Given the description of an element on the screen output the (x, y) to click on. 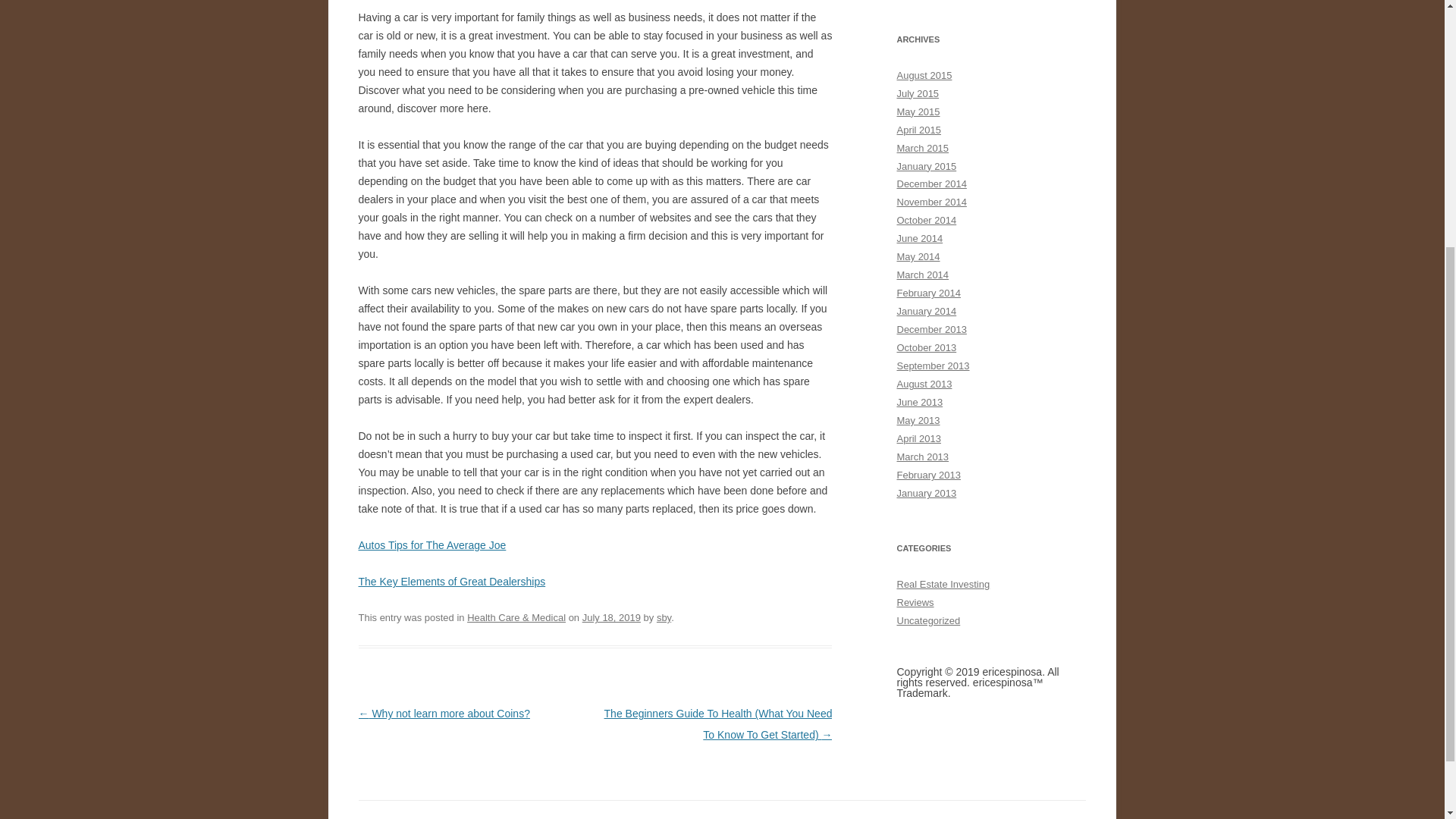
The Key Elements of Great Dealerships (451, 581)
August 2013 (924, 383)
sby (663, 617)
April 2013 (918, 438)
March 2015 (922, 147)
May 2014 (917, 256)
September 2013 (932, 365)
December 2014 (931, 183)
November 2014 (931, 202)
Autos Tips for The Average Joe (431, 544)
